Given the description of an element on the screen output the (x, y) to click on. 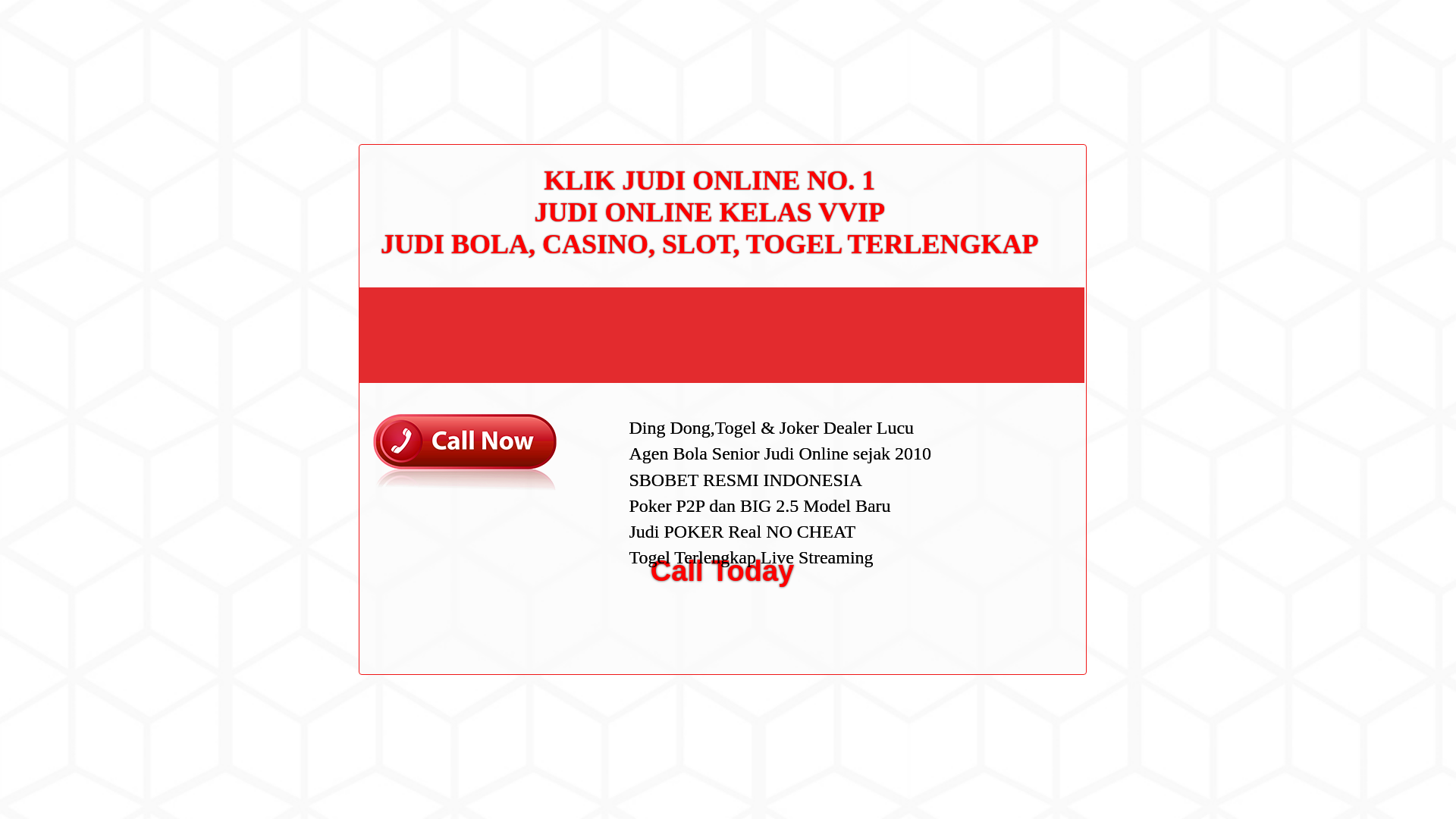
Contact Us (991, 258)
Privacy Policy (999, 306)
Terms of Use (996, 330)
Disclaimer (990, 354)
Blog (976, 510)
ADMINISTRATOR (417, 81)
Search (1050, 85)
July 2020 (988, 432)
KANONSPORTS.COM (403, 28)
Log in (980, 588)
Search (1050, 85)
RSS (977, 612)
Skip to content (34, 9)
Latest Article (996, 172)
DMCA Policy (996, 282)
